Given the description of an element on the screen output the (x, y) to click on. 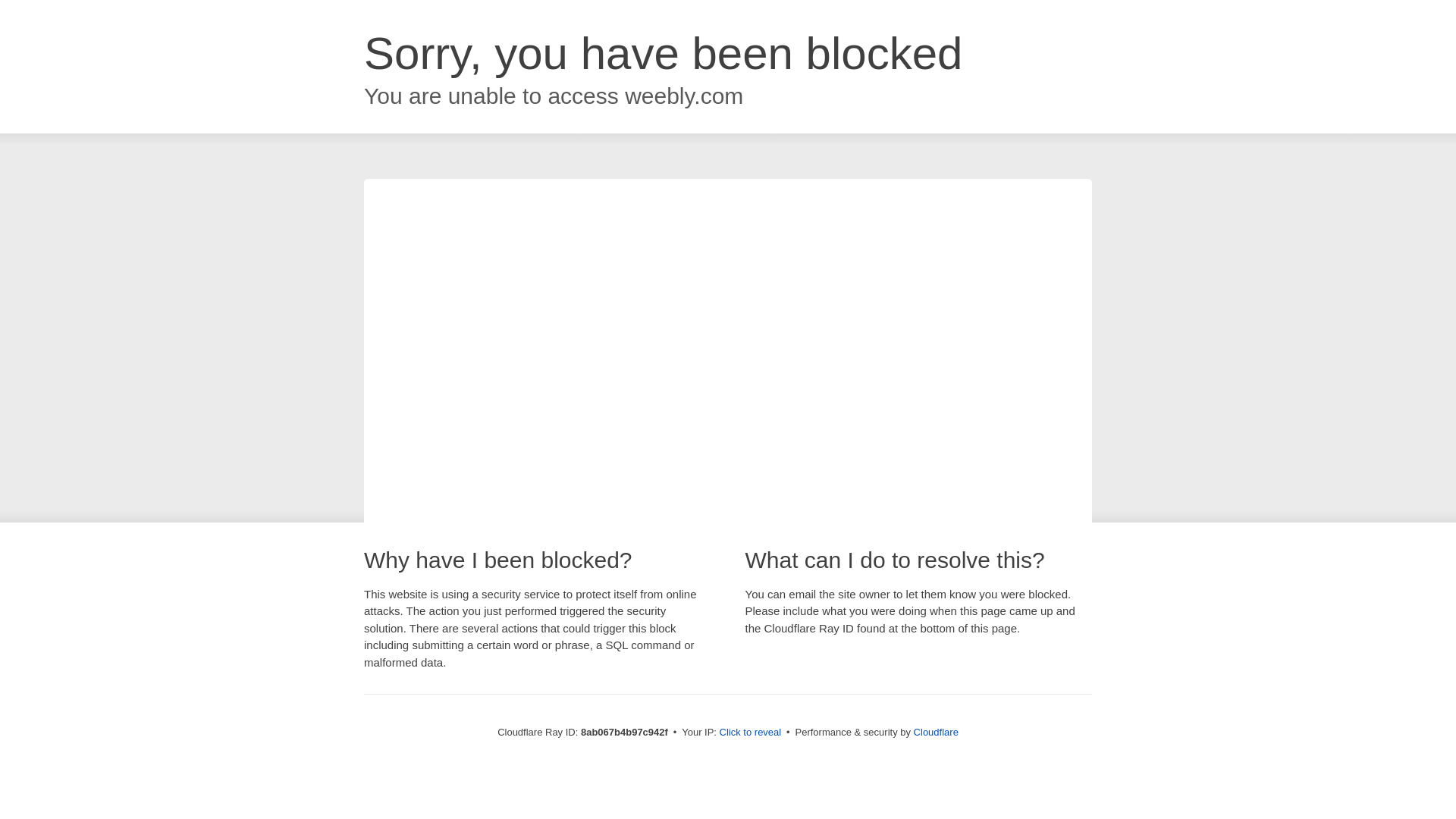
Cloudflare (936, 731)
Click to reveal (750, 732)
